Given the description of an element on the screen output the (x, y) to click on. 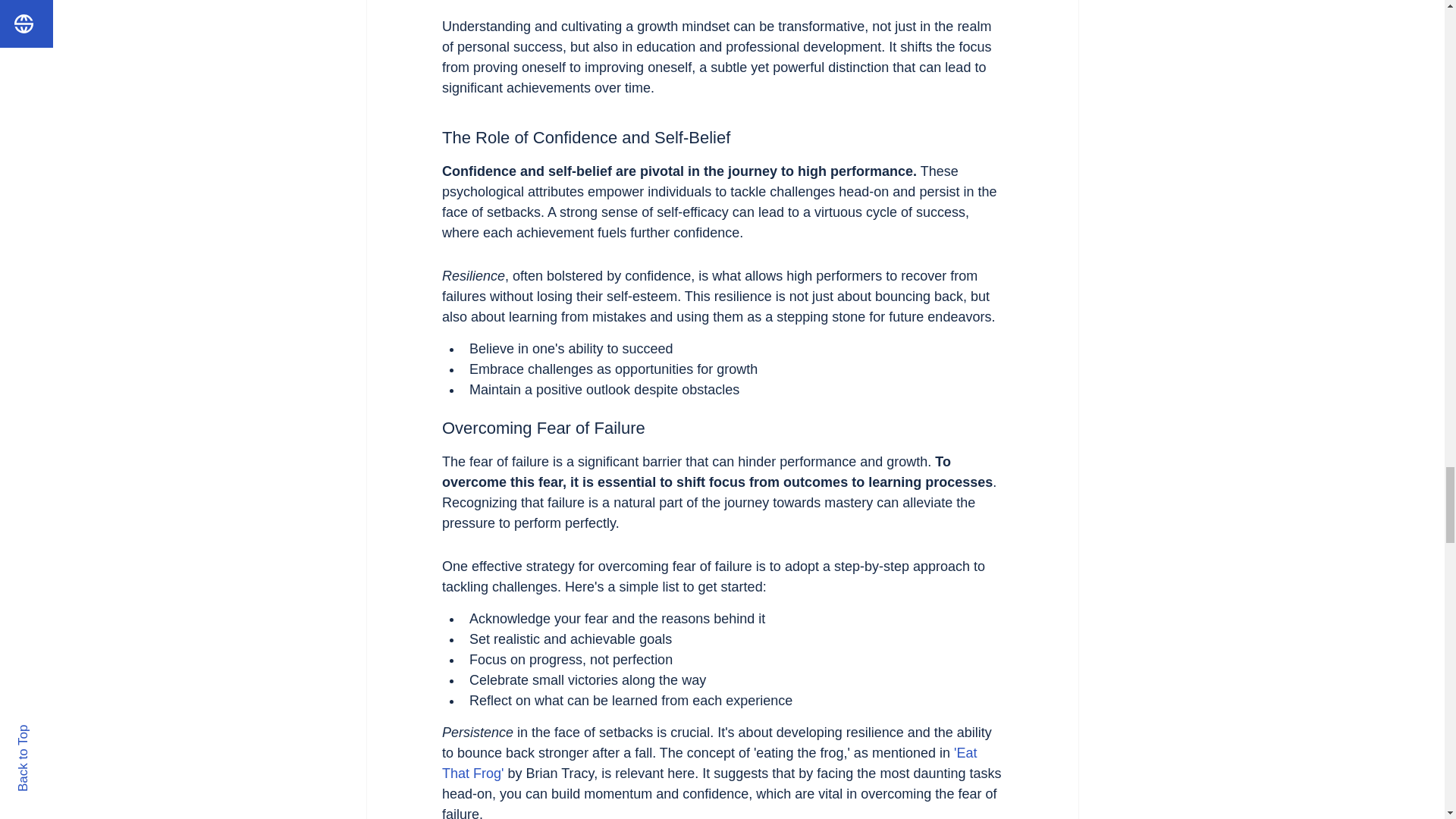
'Eat That Frog' (710, 763)
